Given the description of an element on the screen output the (x, y) to click on. 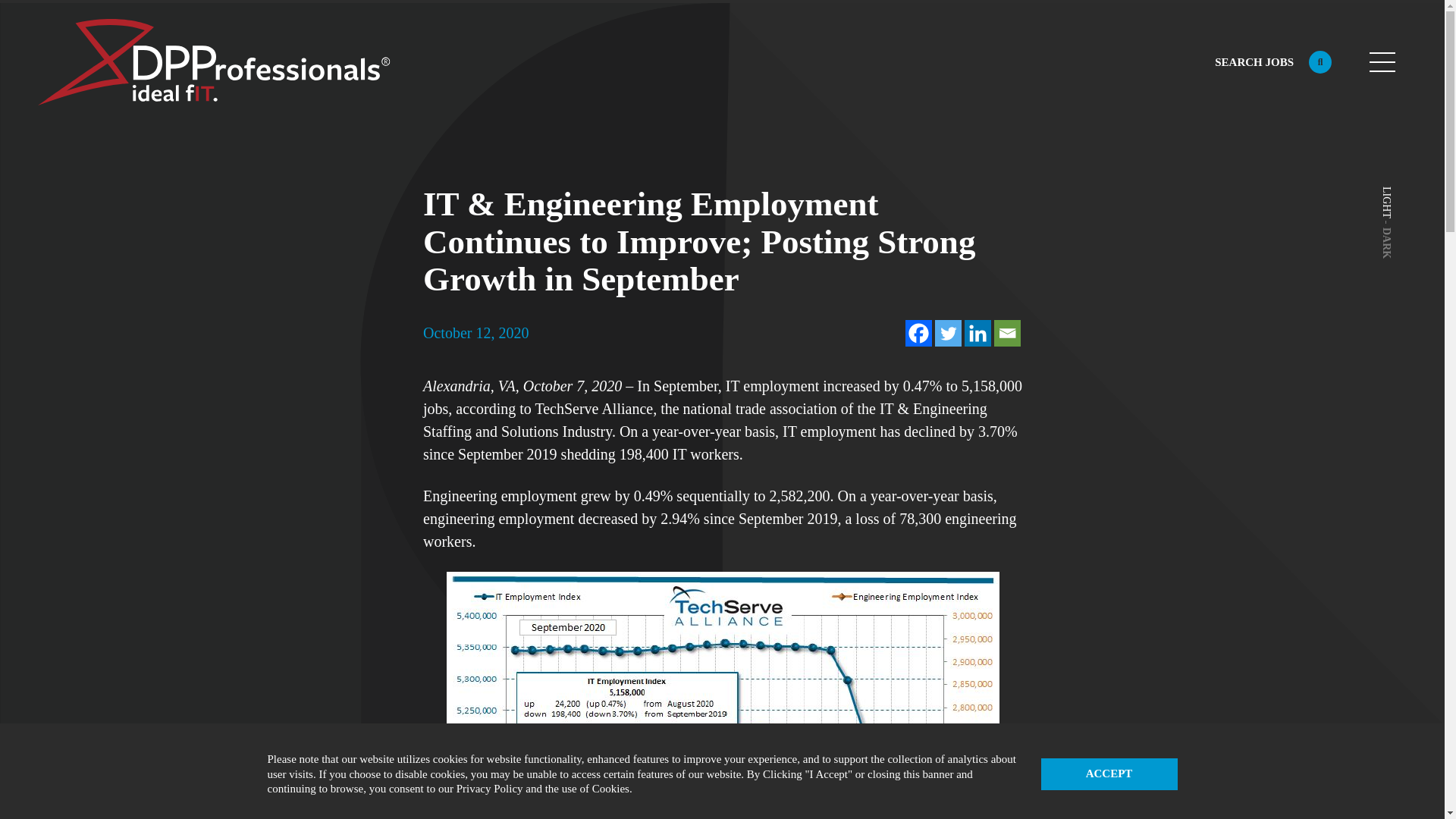
SEARCH JOBS (1273, 61)
Facebook (918, 333)
Email (1006, 333)
Twitter (947, 333)
LIGHT (1395, 192)
DARK (1395, 233)
Linkedin (977, 333)
